Given the description of an element on the screen output the (x, y) to click on. 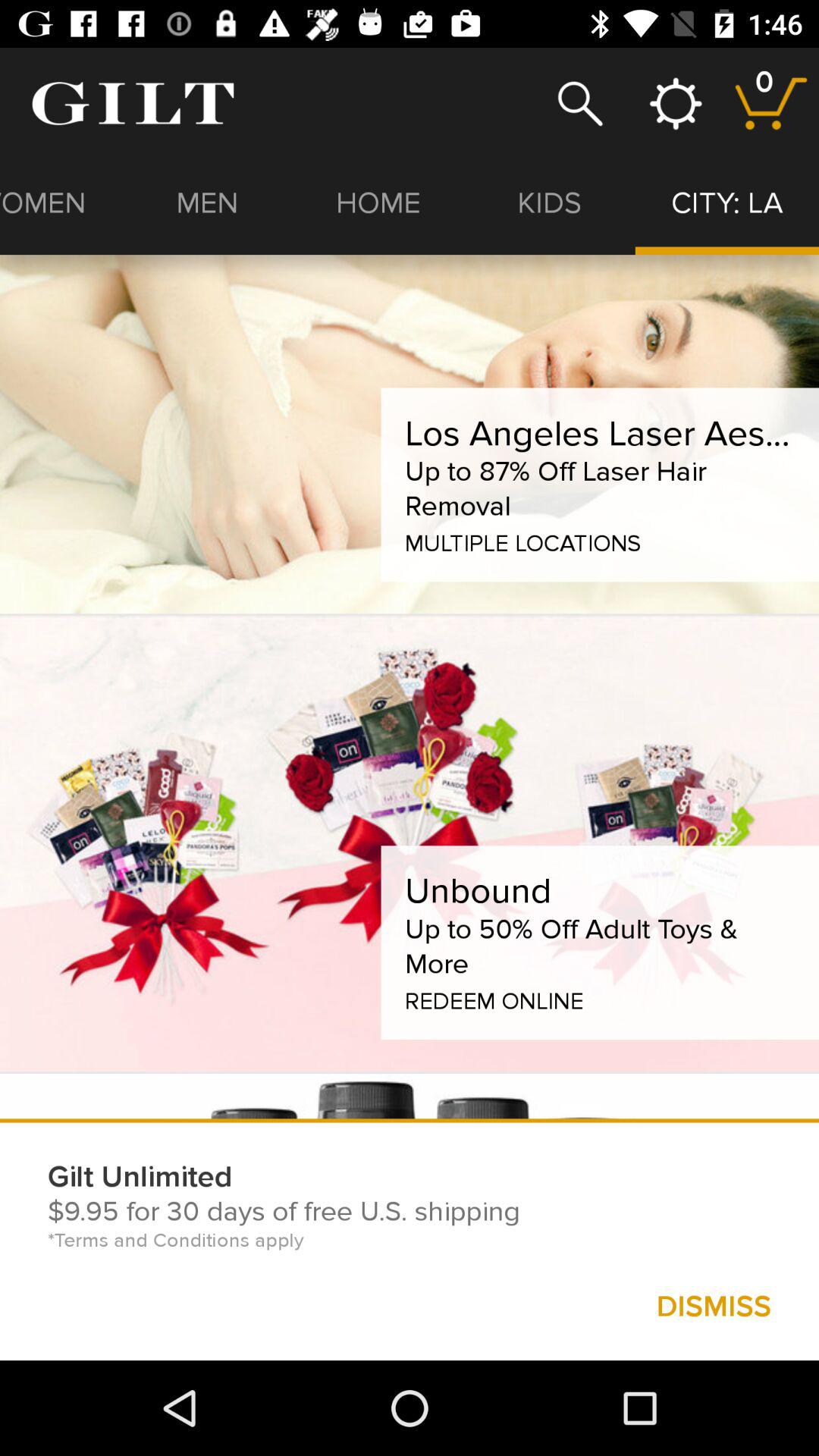
view cart (771, 103)
